Given the description of an element on the screen output the (x, y) to click on. 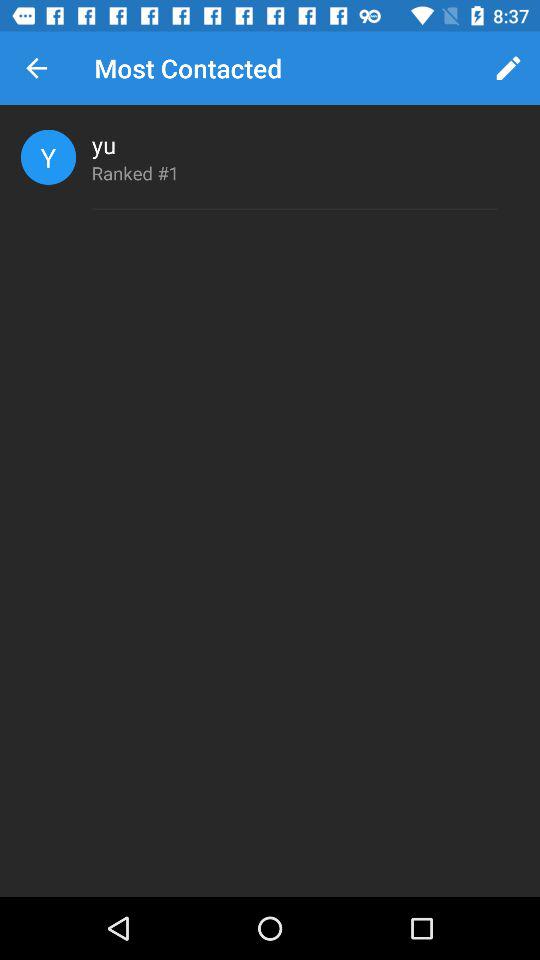
scroll to y (48, 156)
